Given the description of an element on the screen output the (x, y) to click on. 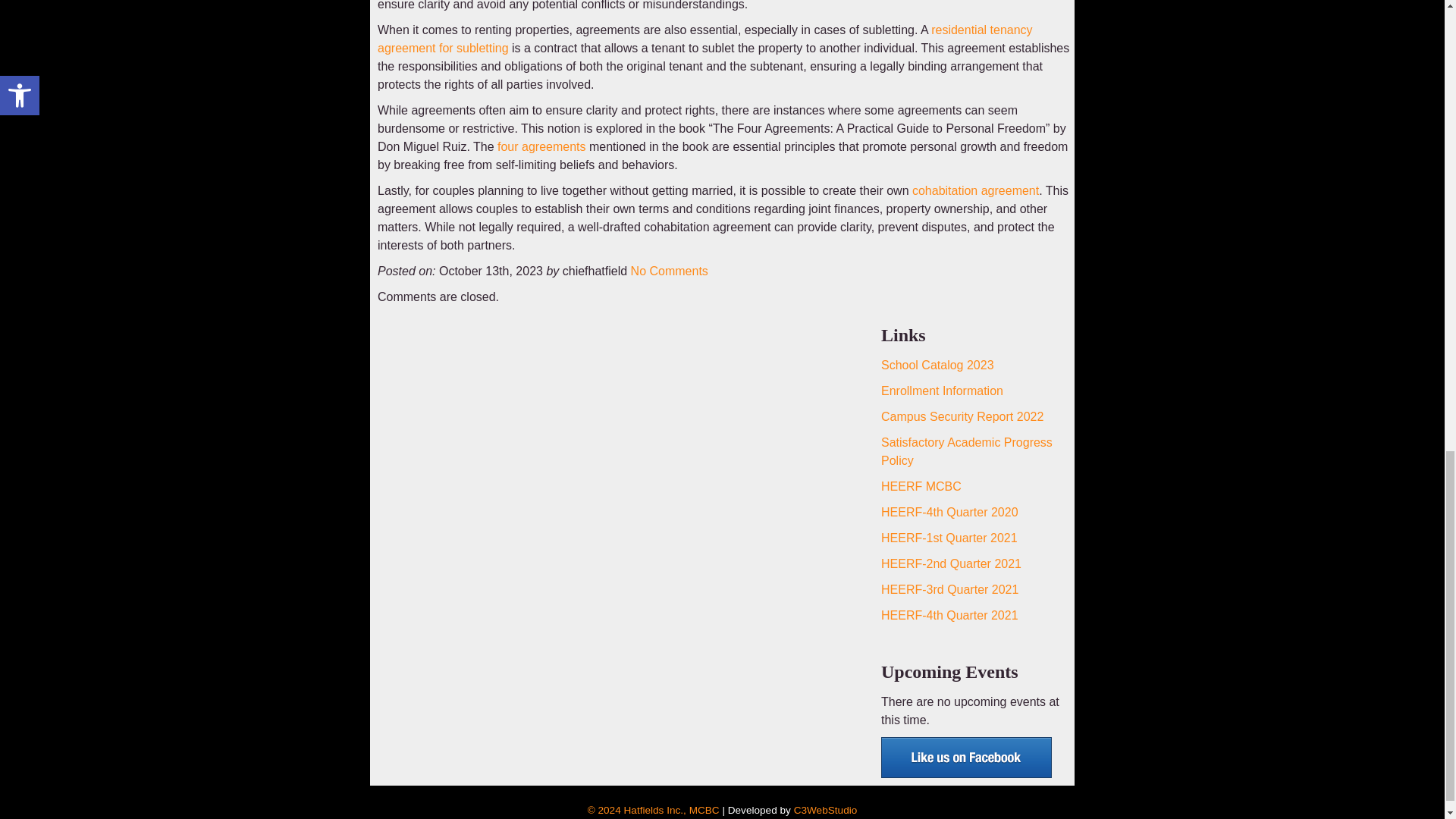
cohabitation agreement (975, 190)
Satisfactory Academic Progress Policy (966, 450)
No Comments (668, 270)
School Catalog 2023 (937, 364)
four agreements (541, 146)
residential tenancy agreement for subletting (704, 38)
Enrollment Information (941, 390)
Campus Security Report 2022 (961, 416)
